Given the description of an element on the screen output the (x, y) to click on. 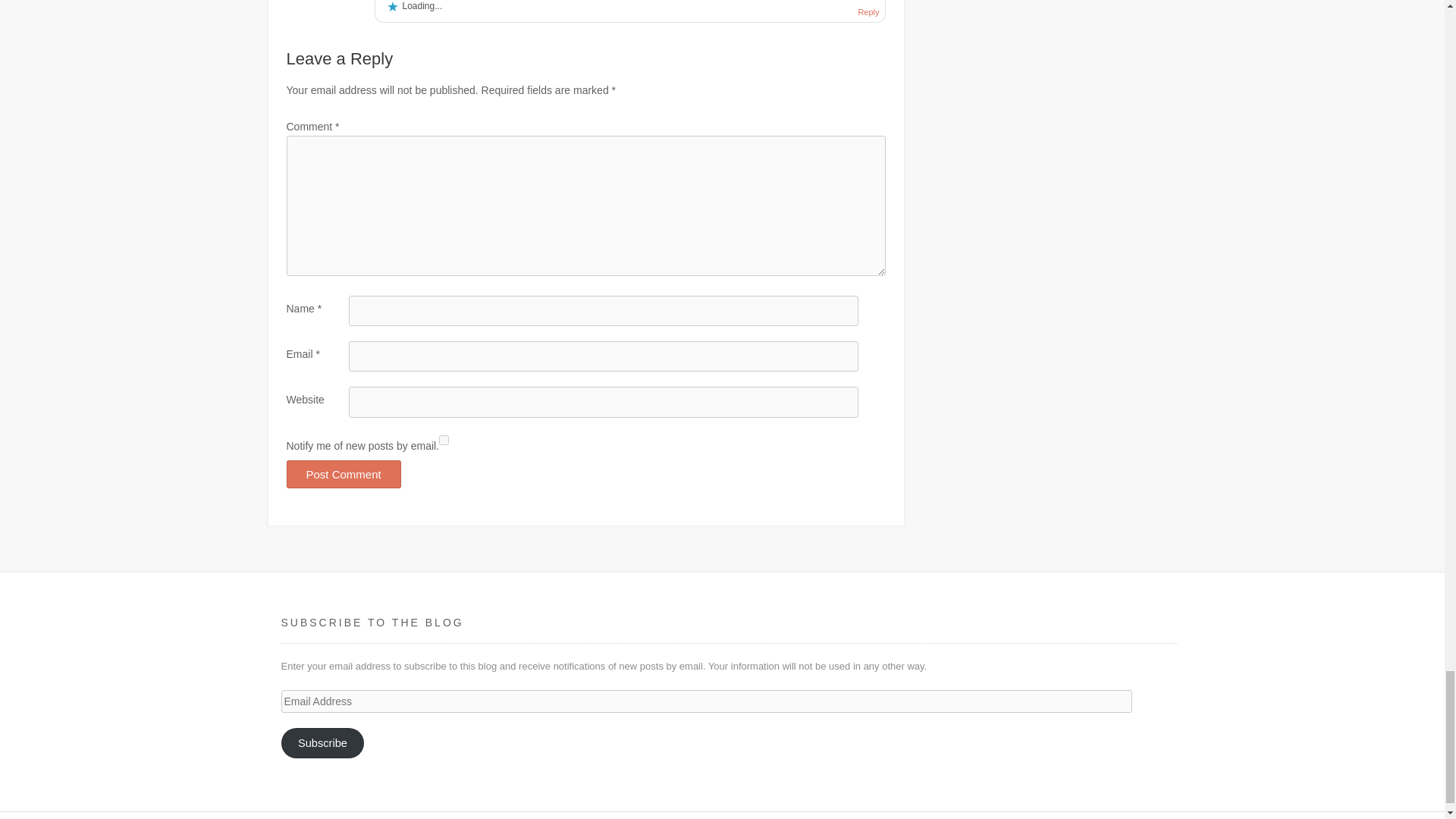
subscribe (443, 439)
Post Comment (343, 474)
